Given the description of an element on the screen output the (x, y) to click on. 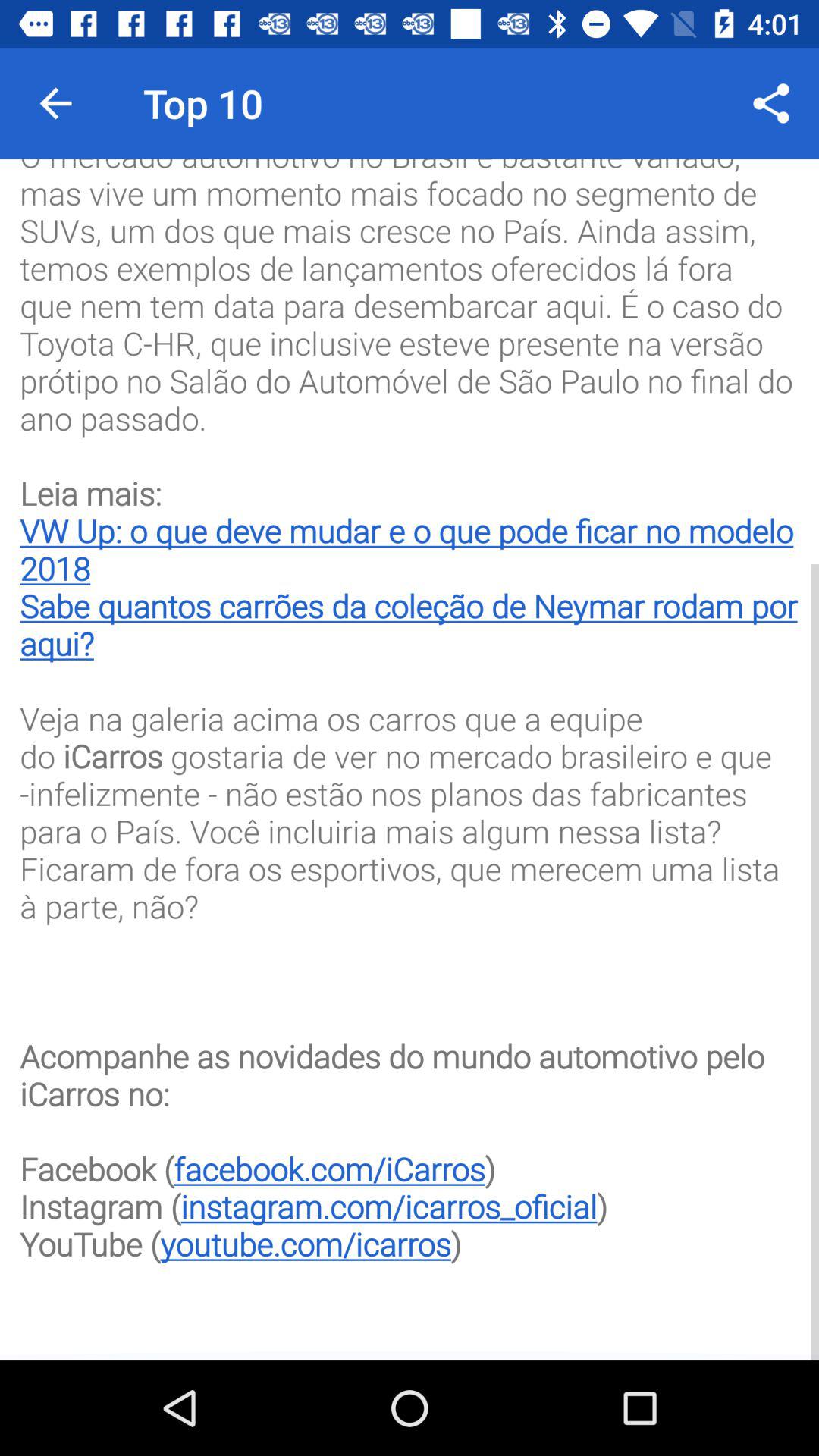
turn on item next to the top 10 icon (771, 103)
